Given the description of an element on the screen output the (x, y) to click on. 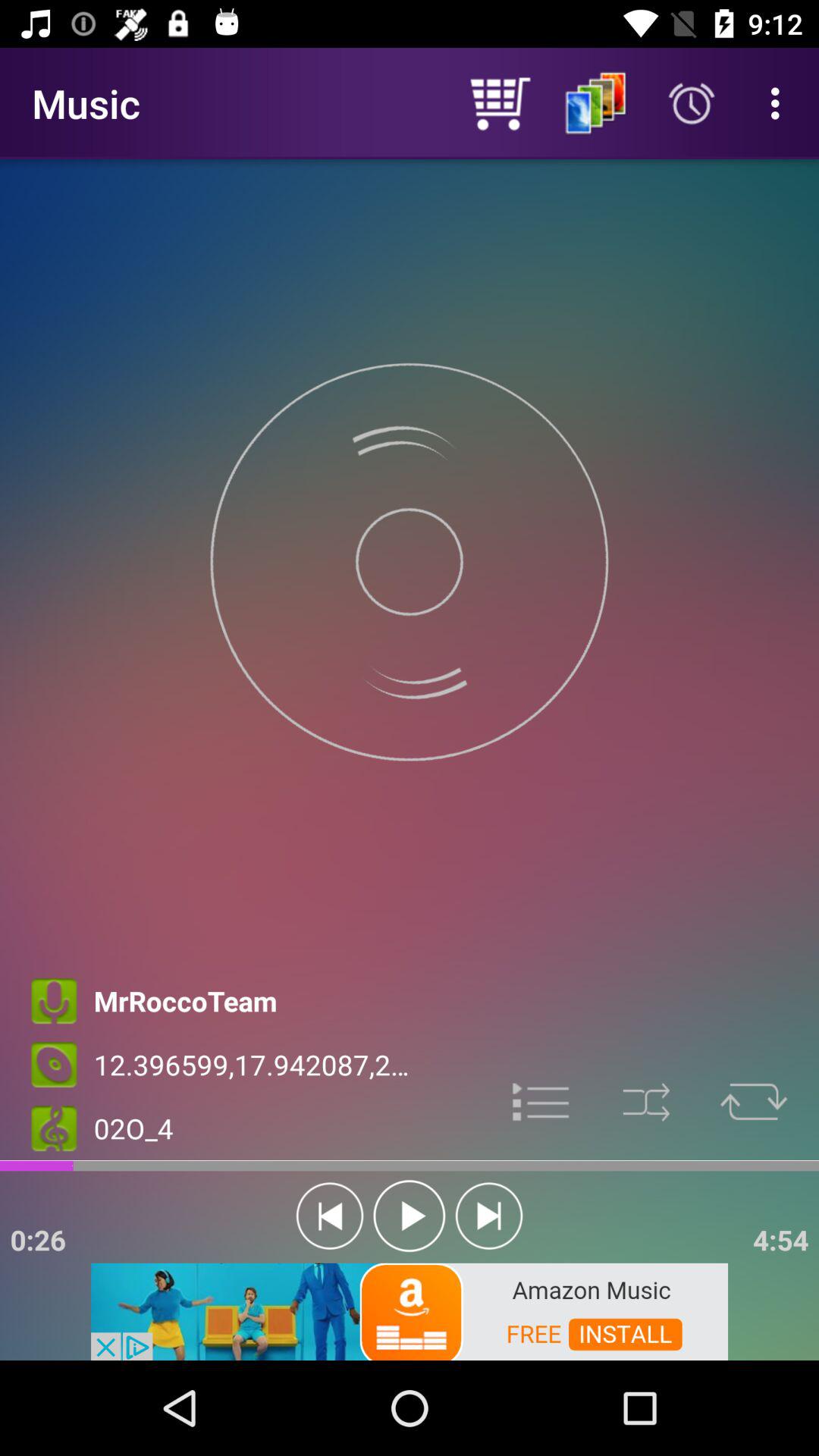
go back (329, 1215)
